Given the description of an element on the screen output the (x, y) to click on. 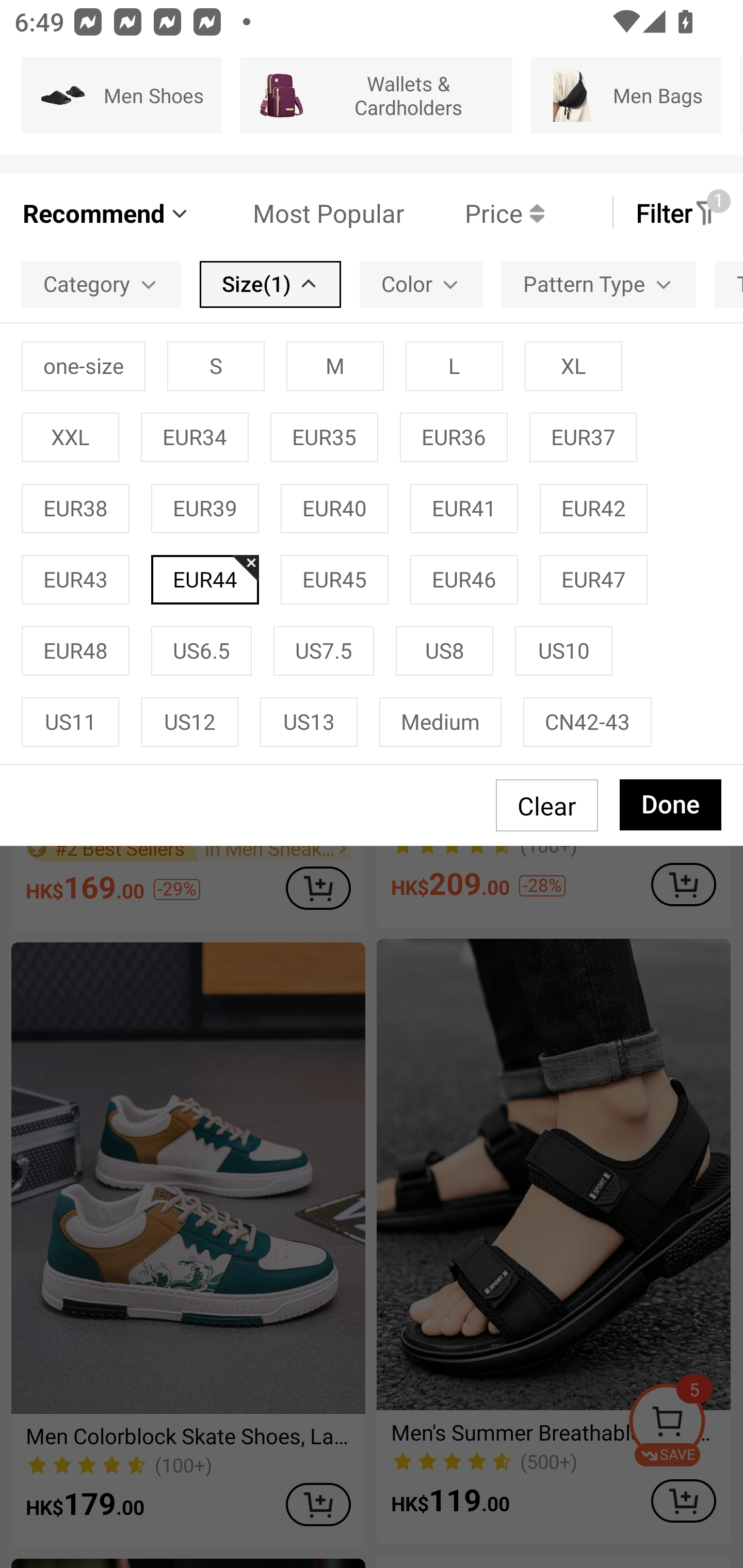
Men Shoes (121, 95)
Wallets & Cardholders (376, 95)
Men Bags (625, 95)
Recommend (106, 213)
Most Popular (297, 213)
Price (474, 213)
Filter 1 (677, 213)
Category (101, 283)
Size(1) (270, 283)
Color (420, 283)
Pattern Type (598, 283)
